Given the description of an element on the screen output the (x, y) to click on. 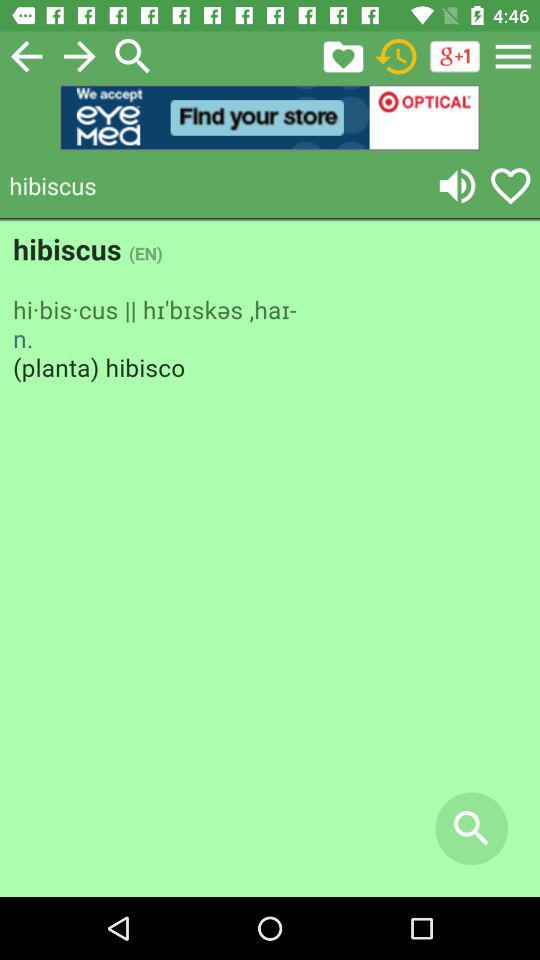
advertisement bar (270, 117)
